Given the description of an element on the screen output the (x, y) to click on. 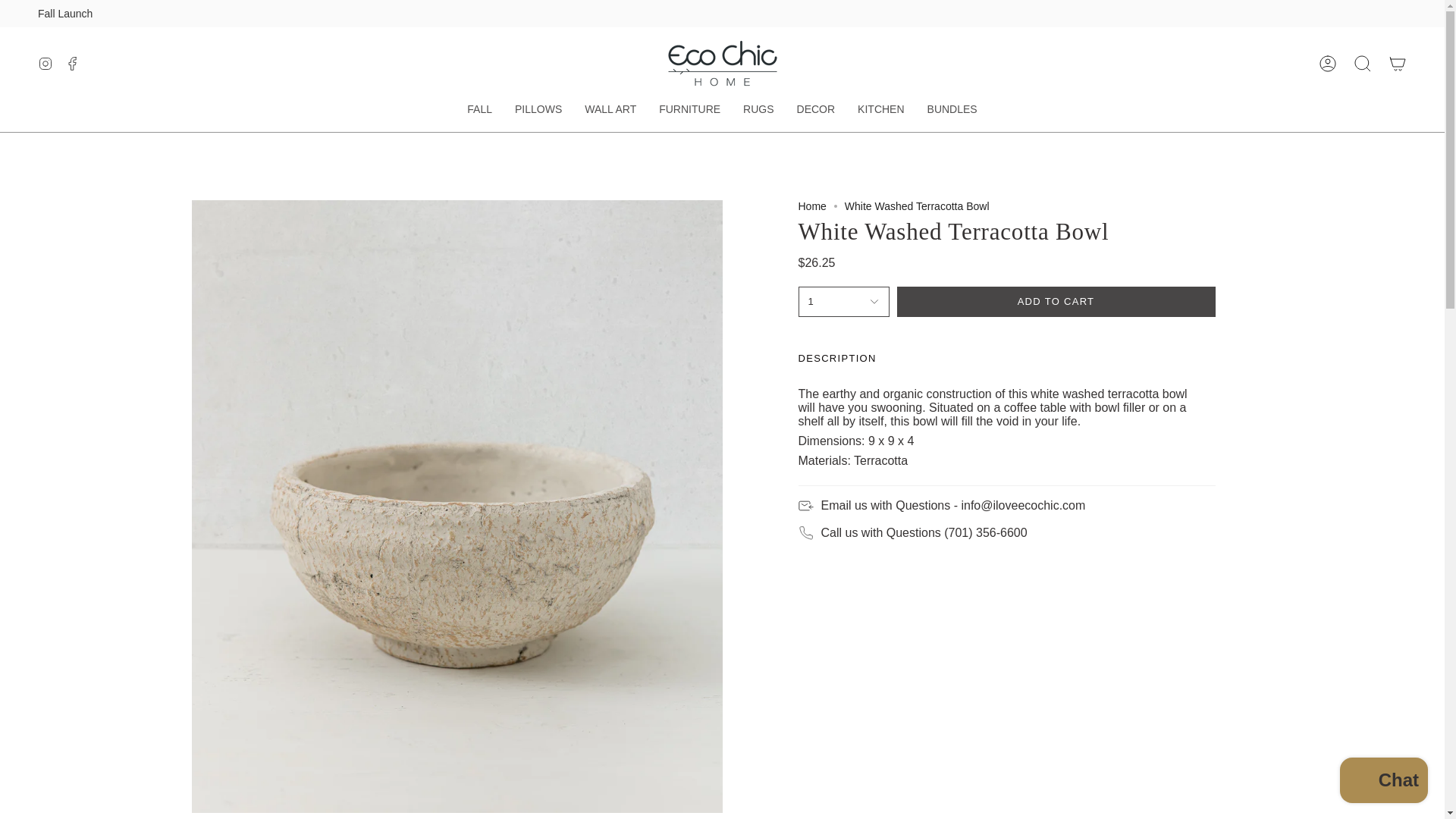
CART (1397, 62)
ACCOUNT (1327, 62)
Shopify online store chat (1383, 781)
FURNITURE (689, 109)
FALL (479, 109)
Cart (1397, 62)
Instagram (44, 62)
WALL ART (610, 109)
Eco Chic Home on Facebook (72, 62)
Eco Chic Home on Instagram (44, 62)
